Given the description of an element on the screen output the (x, y) to click on. 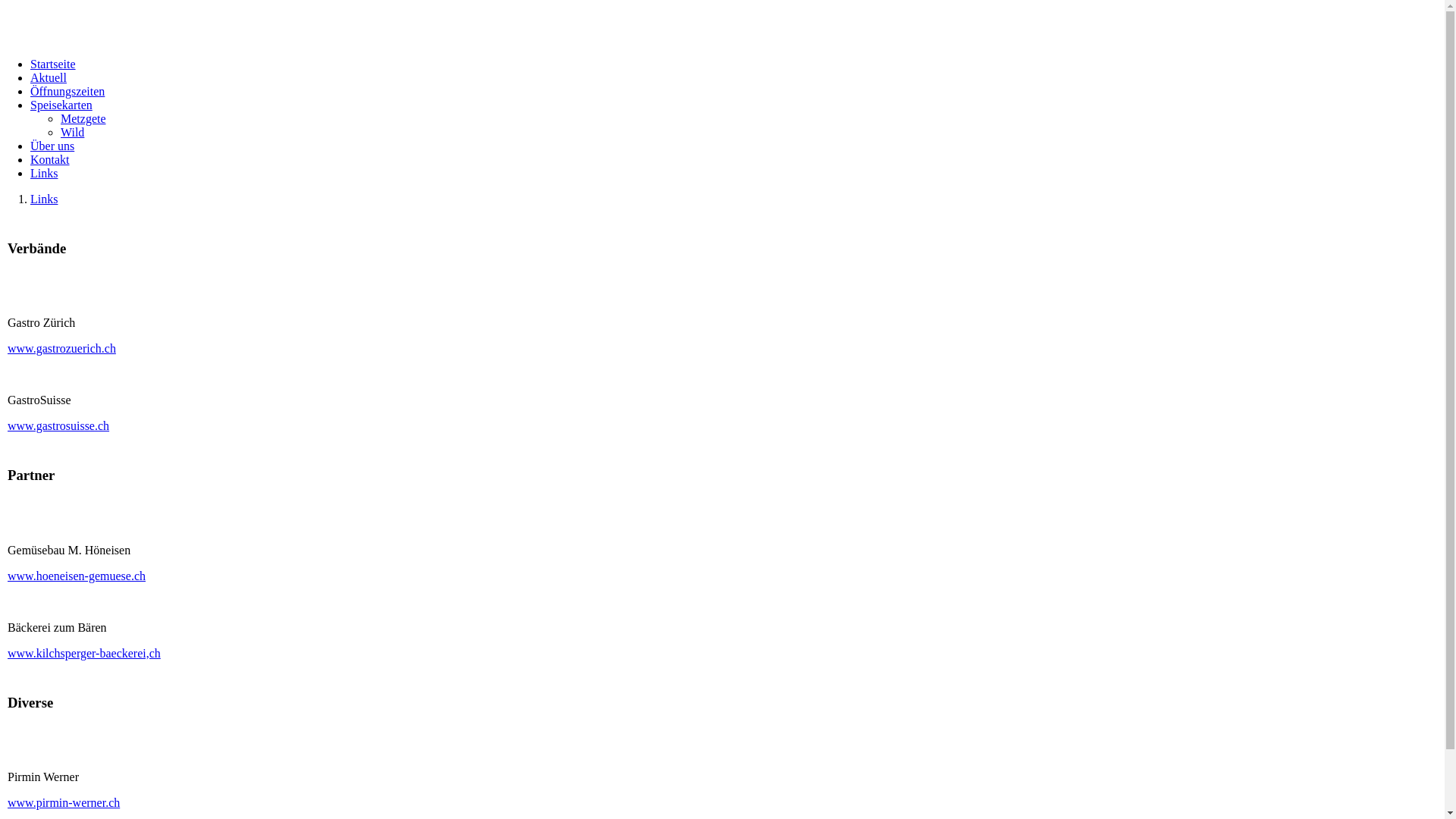
www.pirmin-werner.ch Element type: text (63, 802)
Speisekarten Element type: text (61, 104)
Kontakt Element type: text (49, 159)
www.gastrozuerich.ch Element type: text (61, 348)
Links Element type: text (43, 198)
www.hoeneisen-gemuese.ch Element type: text (76, 575)
Metzgete Element type: text (83, 118)
Aktuell Element type: text (48, 77)
Wild Element type: text (72, 131)
Links Element type: text (43, 172)
www.gastrosuisse.ch Element type: text (58, 425)
www.kilchsperger-baeckerei,ch Element type: text (83, 652)
Startseite Element type: text (52, 63)
